Given the description of an element on the screen output the (x, y) to click on. 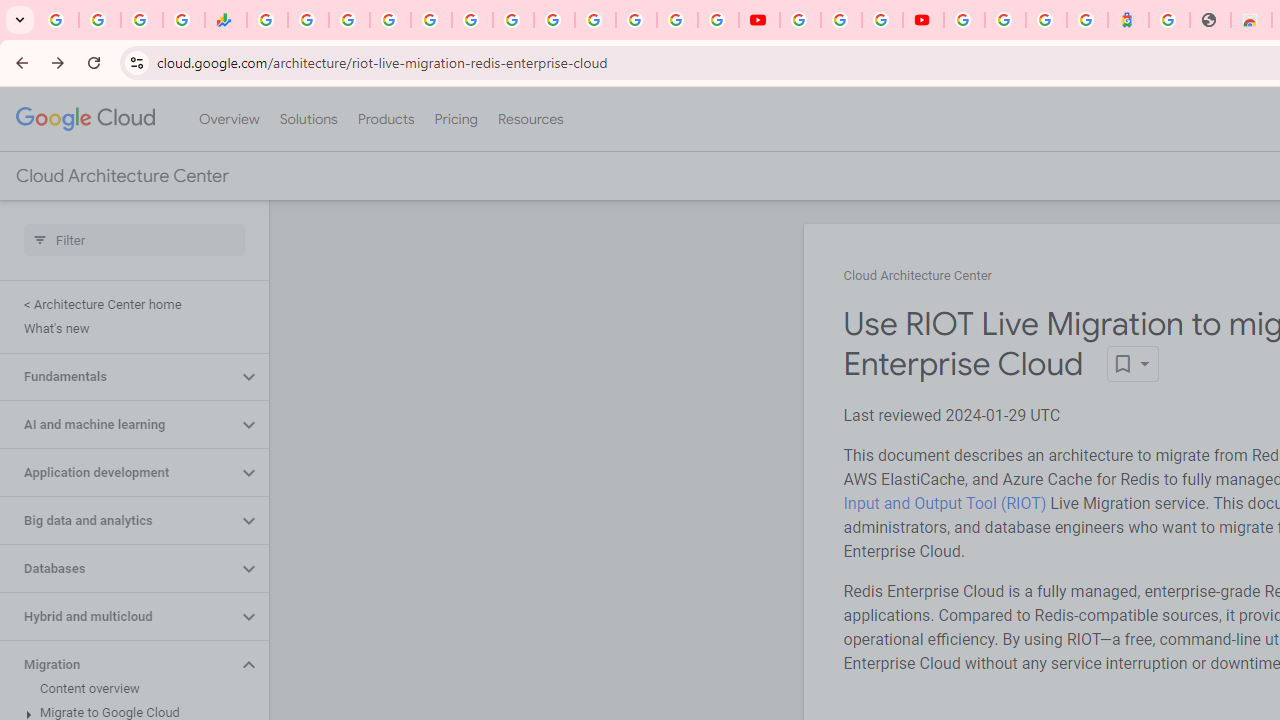
Google Cloud (84, 118)
Content overview (130, 688)
Google Workspace Admin Community (58, 20)
Fundamentals (118, 376)
Sign in - Google Accounts (964, 20)
Databases (118, 569)
Open dropdown (1131, 364)
Sign in - Google Accounts (594, 20)
What's new (130, 328)
